Given the description of an element on the screen output the (x, y) to click on. 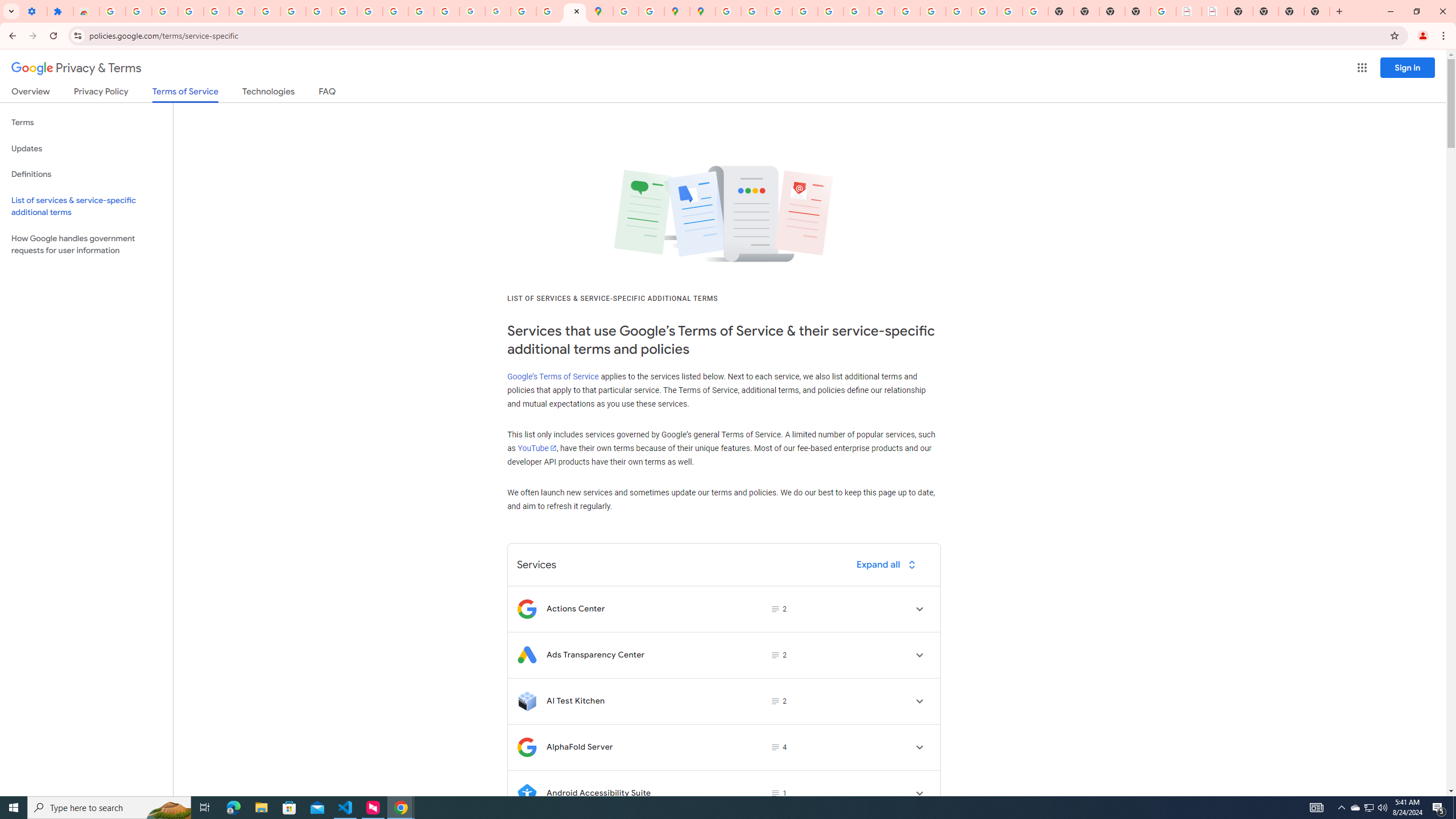
YouTube (318, 11)
Settings - On startup (34, 11)
Sign in - Google Accounts (242, 11)
Google Account (293, 11)
Privacy Help Center - Policies Help (779, 11)
